Given the description of an element on the screen output the (x, y) to click on. 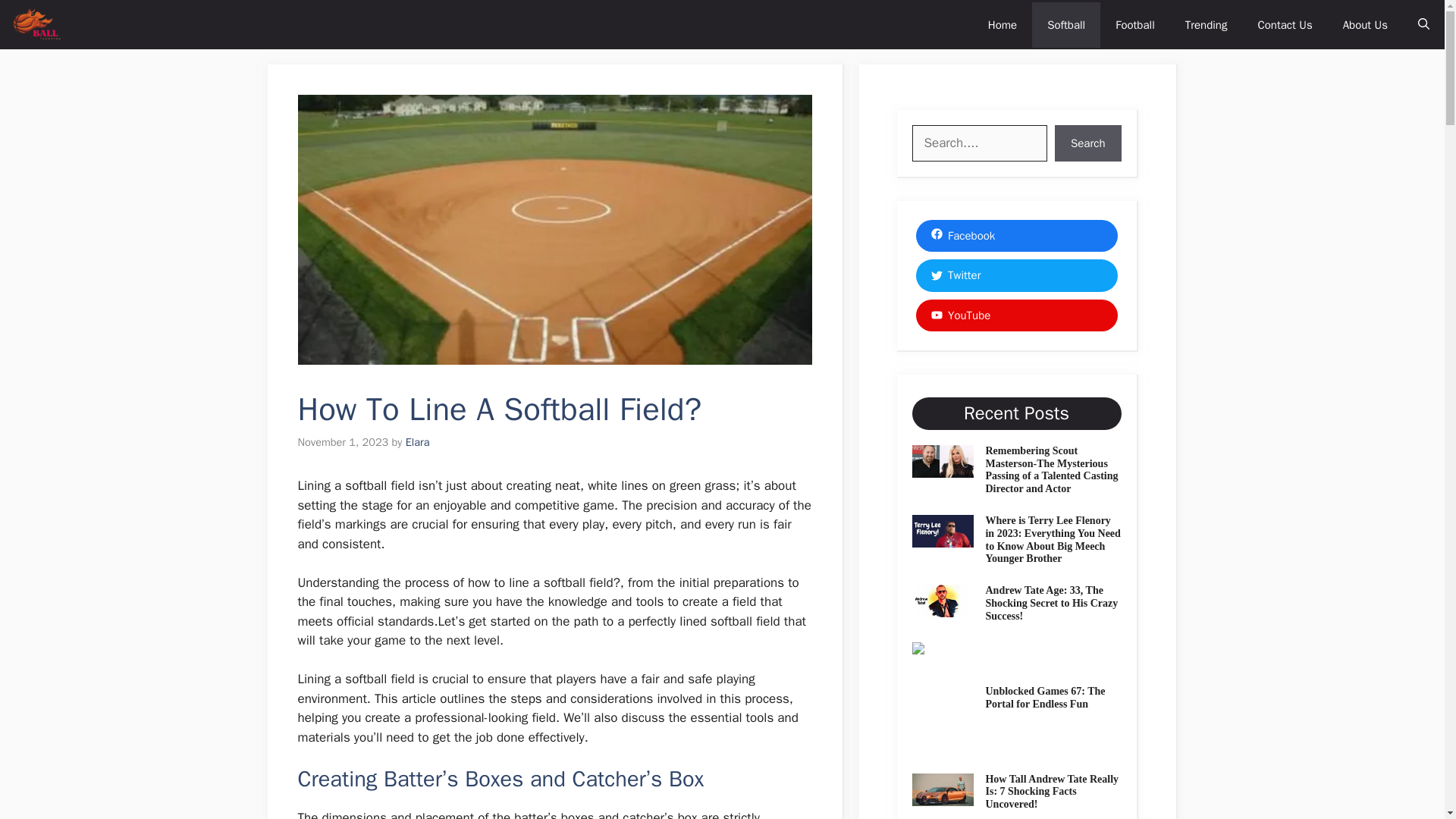
Softball (1066, 23)
View all posts by Elara (417, 441)
Contact Us (1283, 23)
Search (1087, 143)
About Us (1365, 23)
Football (1135, 23)
How Tall Andrew Tate Really Is: 7 Shocking Facts Uncovered! (1051, 791)
